Given the description of an element on the screen output the (x, y) to click on. 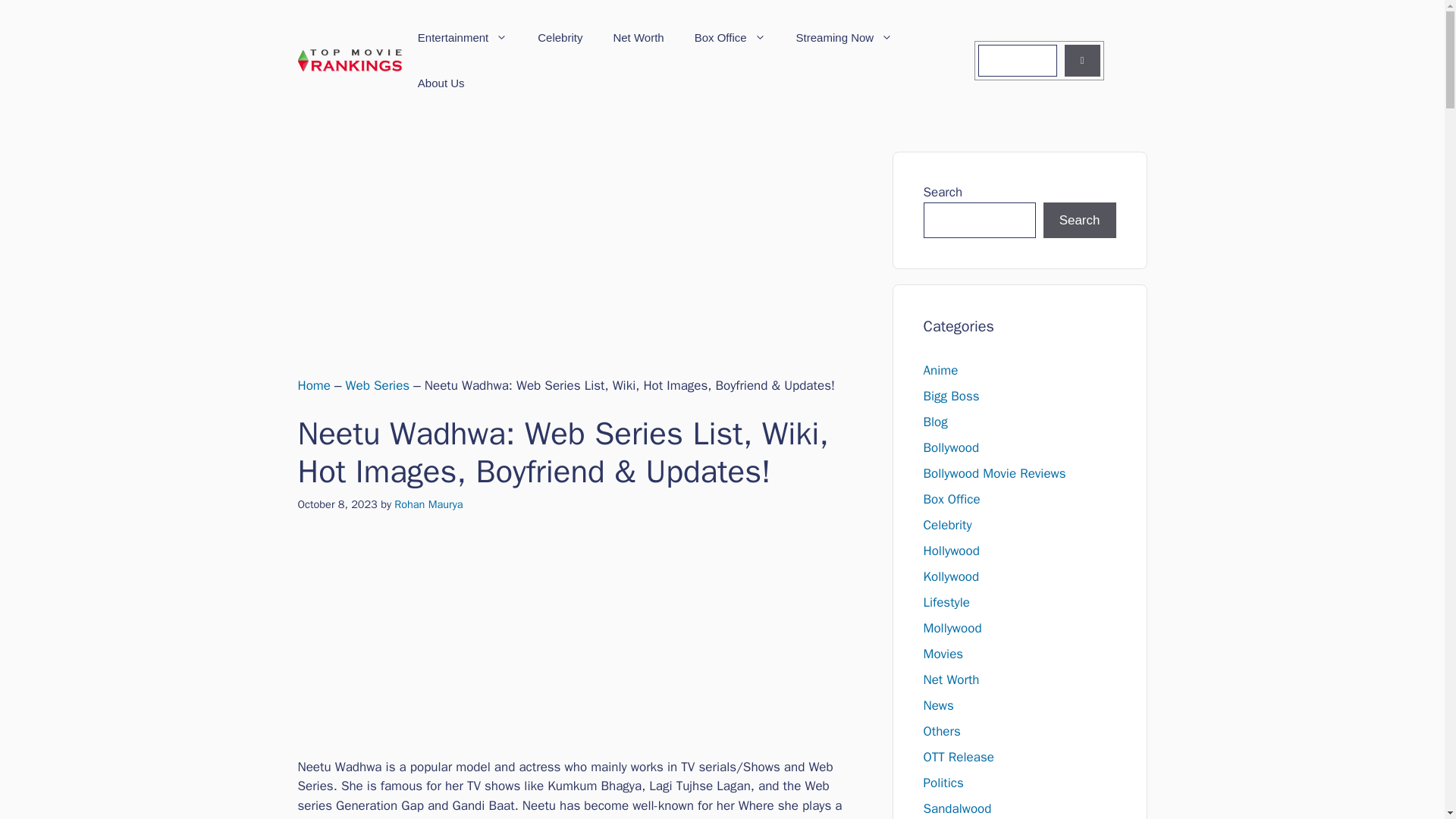
Streaming Now (844, 37)
Celebrity (559, 37)
View all posts by Rohan Maurya (428, 504)
Home (313, 385)
Box Office (729, 37)
Web Series (378, 385)
Rohan Maurya (428, 504)
About Us (441, 83)
Entertainment (462, 37)
Net Worth (637, 37)
